Given the description of an element on the screen output the (x, y) to click on. 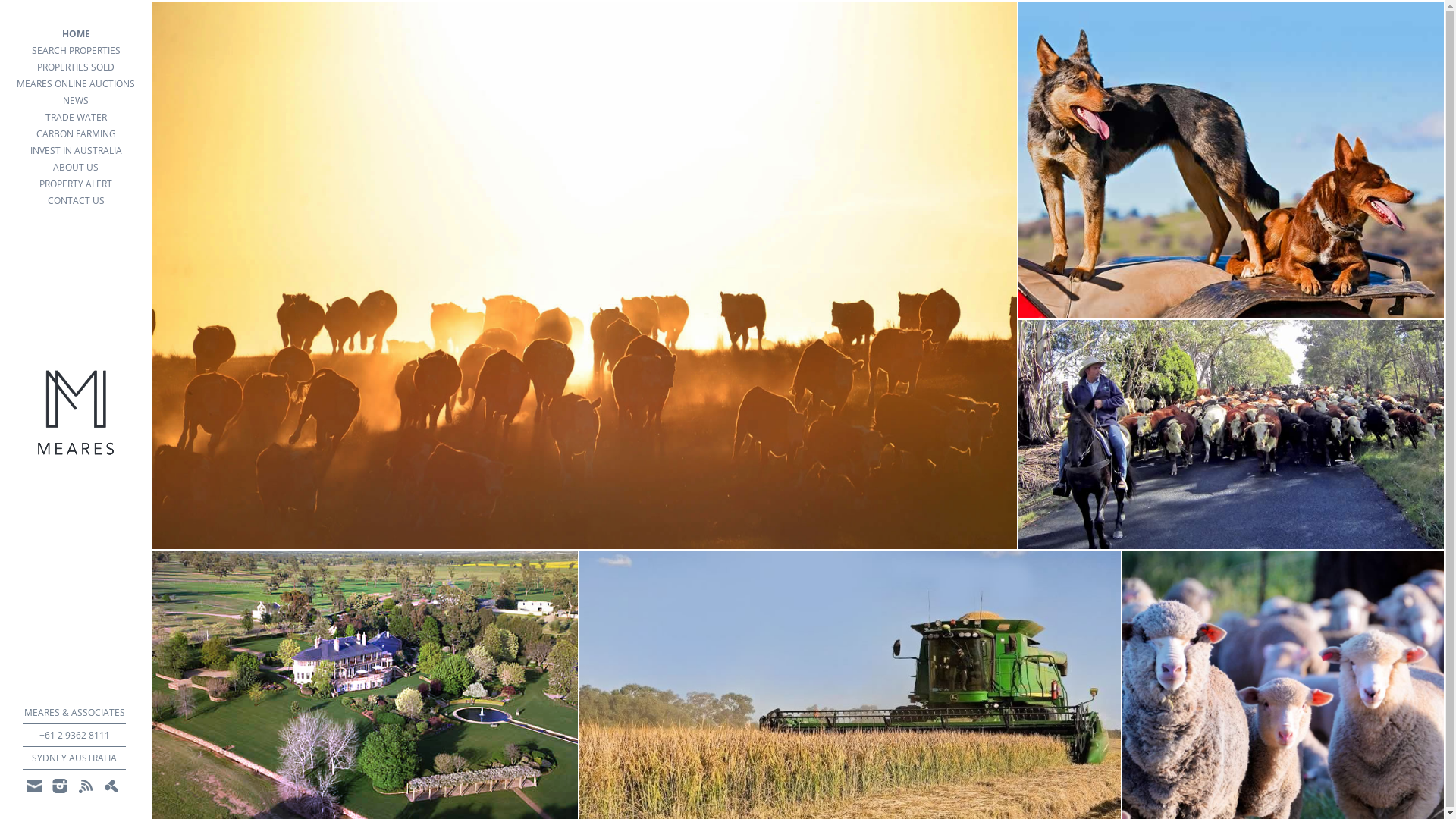
PROPERTY ALERT Element type: text (75, 184)
MEARES ONLINE AUCTIONS Element type: text (75, 84)
PROPERTIES SOLD Element type: text (75, 67)
TRADE WATER Element type: text (75, 117)
. Element type: text (59, 785)
. Element type: text (85, 785)
SEARCH PROPERTIES Element type: text (75, 50)
NEWS Element type: text (75, 100)
CONTACT US Element type: text (75, 200)
ABOUT US Element type: text (75, 167)
CARBON FARMING Element type: text (75, 134)
.  Element type: text (111, 785)
HOME Element type: text (75, 33)
INVEST IN AUSTRALIA Element type: text (75, 150)
